Given the description of an element on the screen output the (x, y) to click on. 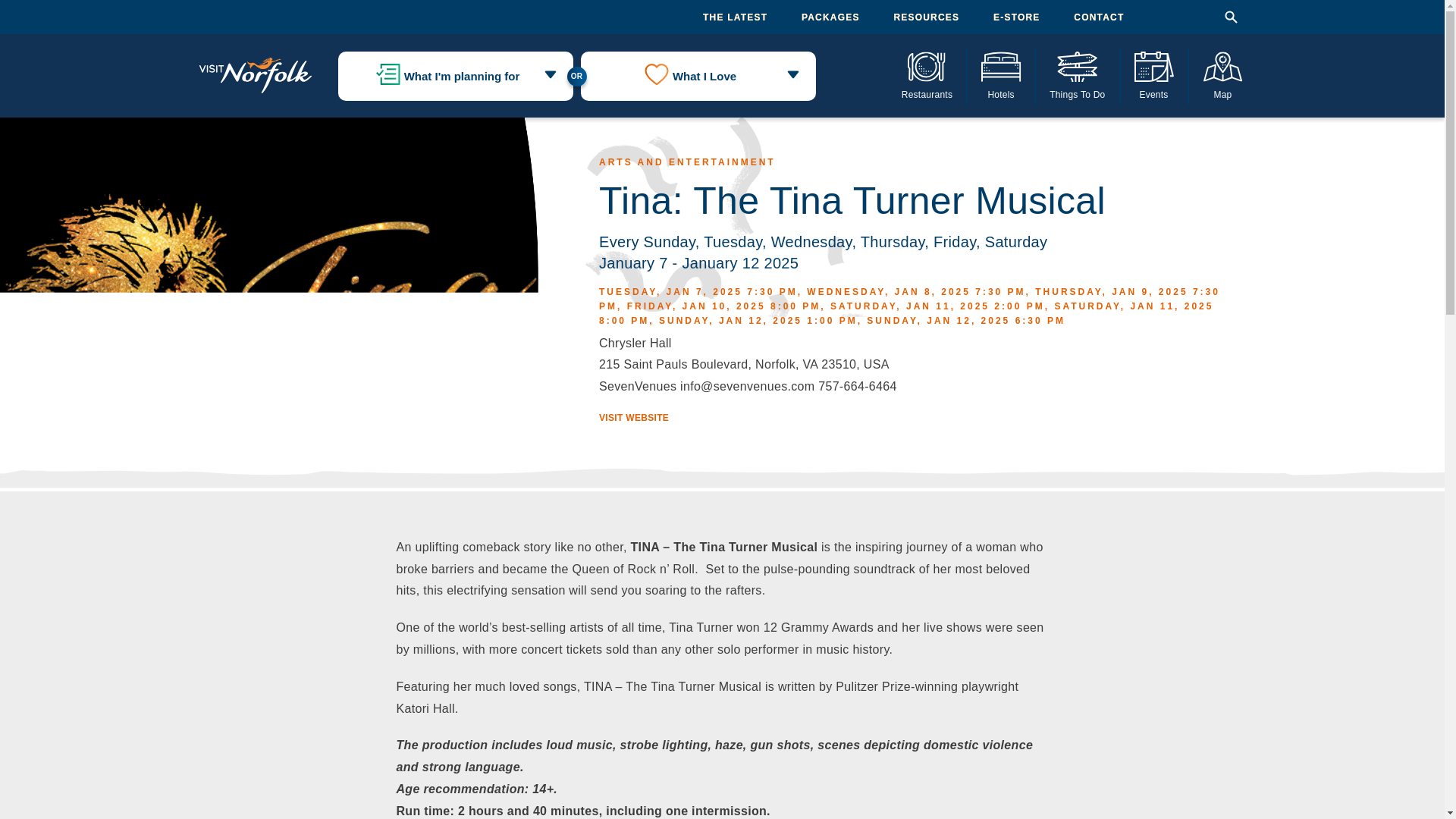
VISIT WEBSITE (633, 417)
E-STORE (1016, 17)
Things To Do (1077, 75)
Map (1223, 75)
Visit Norfolk (254, 75)
Search (1230, 16)
Hotels (1001, 75)
What I Love (697, 75)
What I'm planning for (455, 75)
CONTACT (1099, 17)
